Given the description of an element on the screen output the (x, y) to click on. 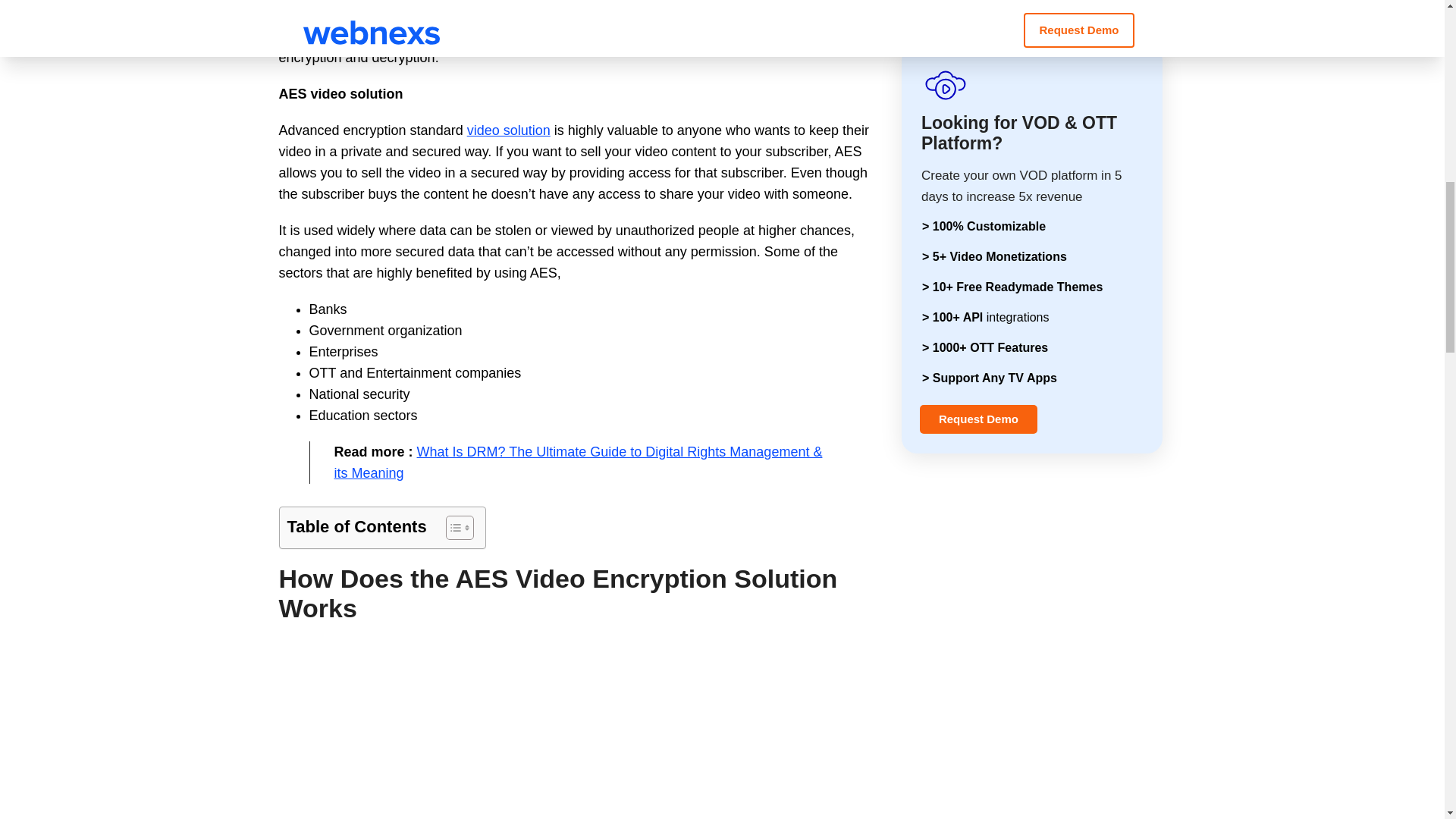
video solution (508, 130)
